Given the description of an element on the screen output the (x, y) to click on. 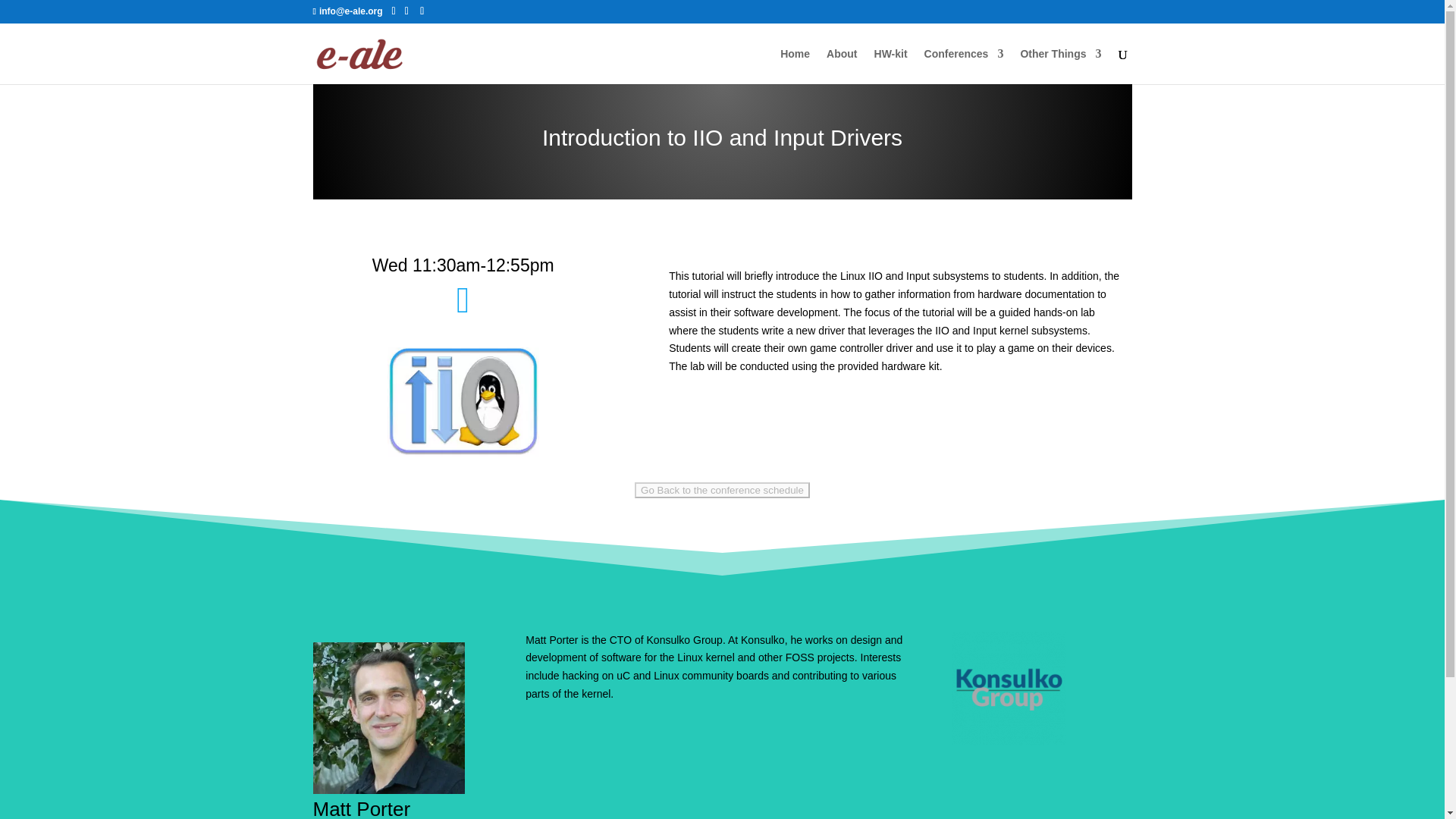
Conferences (964, 66)
Go Back to the conference schedule (721, 489)
IIO (462, 402)
Other Things (1060, 66)
HW-kit (891, 66)
